Given the description of an element on the screen output the (x, y) to click on. 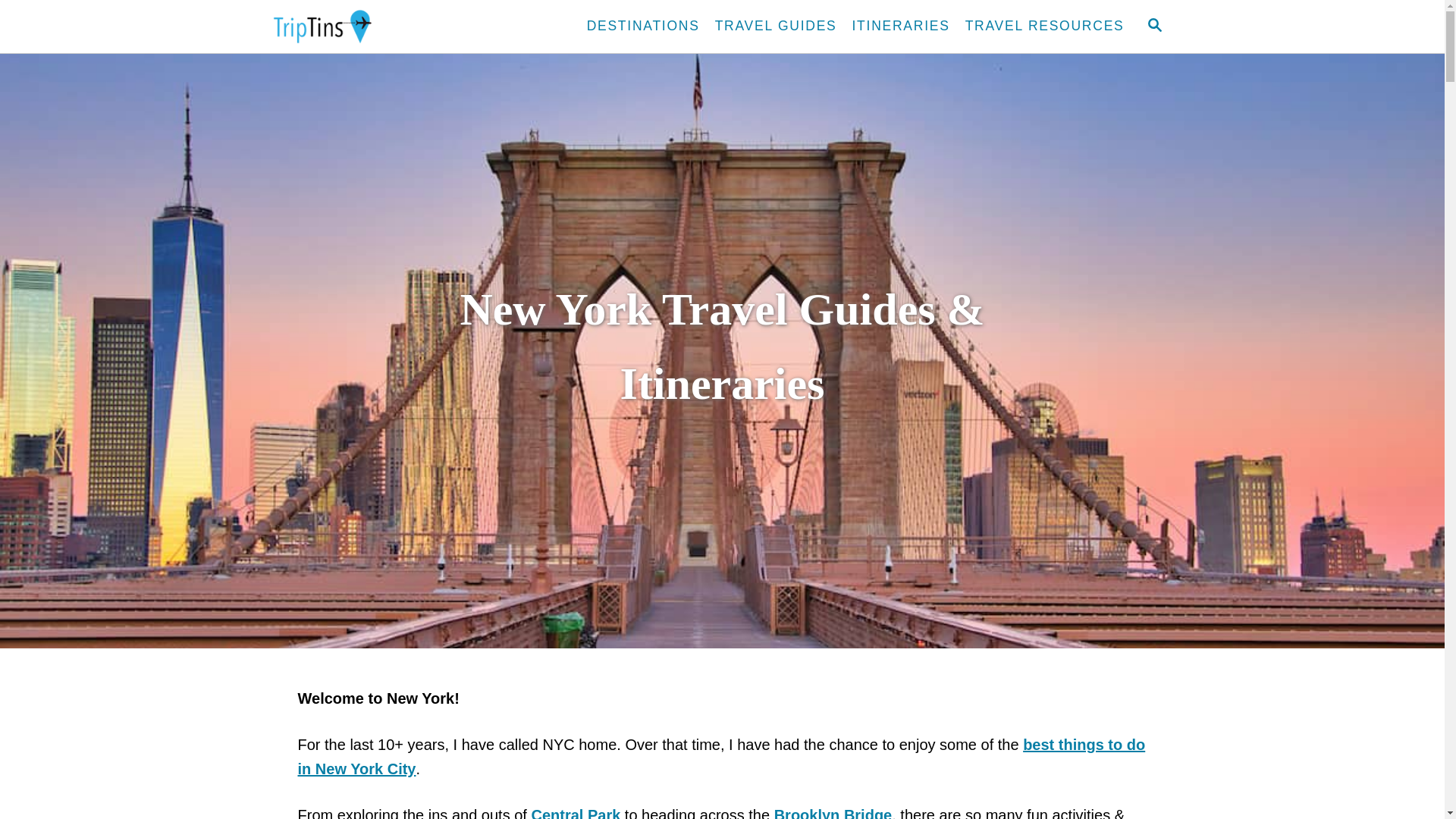
TRAVEL GUIDES (775, 26)
Central Park (575, 812)
TRAVEL RESOURCES (1045, 26)
ITINERARIES (901, 26)
TripTins (401, 26)
DESTINATIONS (643, 26)
SEARCH (1153, 26)
best things to do in New York City (720, 756)
Brooklyn Bridge (833, 812)
